Given the description of an element on the screen output the (x, y) to click on. 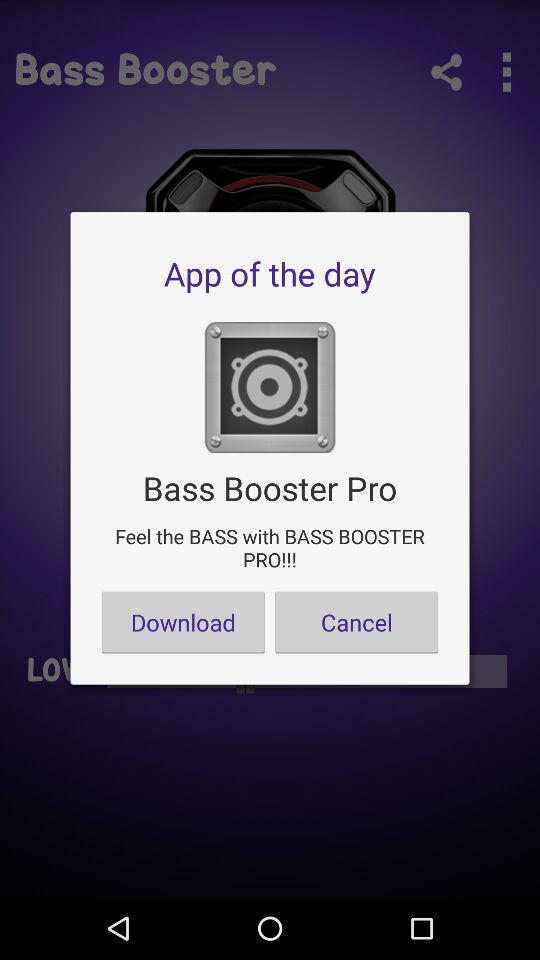
tap the icon below feel the bass icon (183, 622)
